Given the description of an element on the screen output the (x, y) to click on. 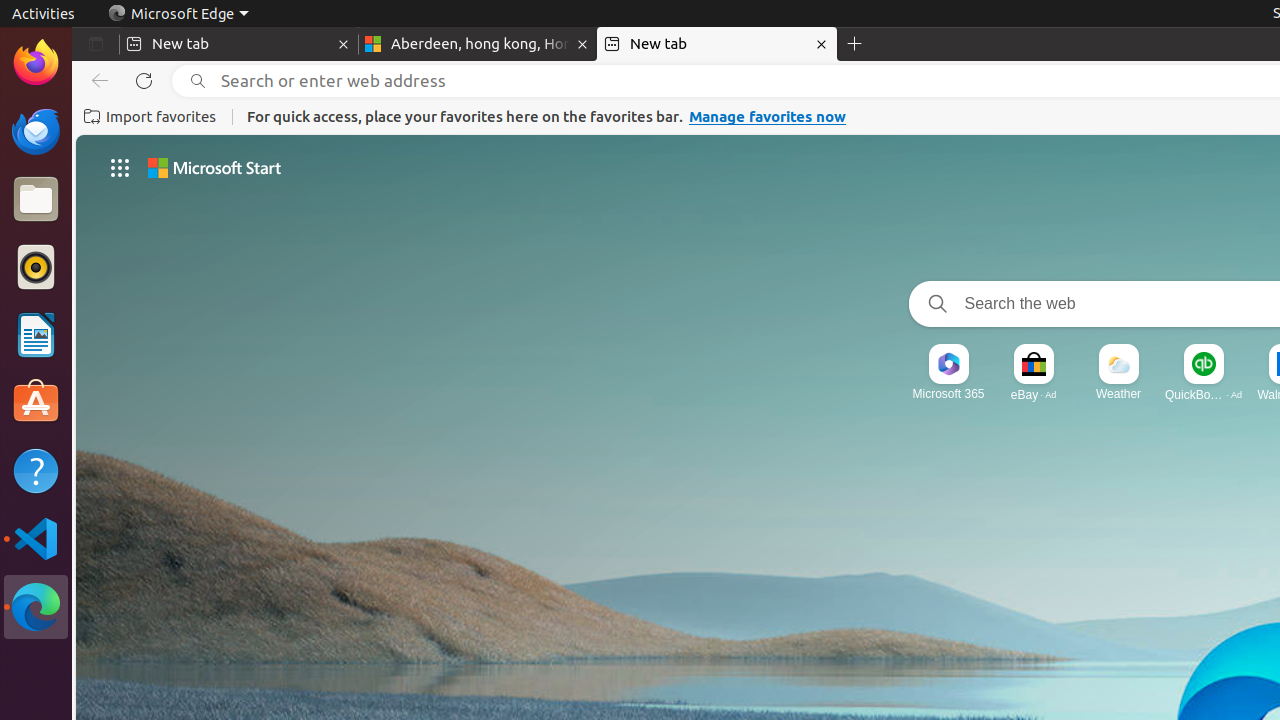
Microsoft 365 Element type: link (948, 393)
New tab Element type: page-tab (717, 44)
Visual Studio Code Element type: push-button (36, 538)
LibreOffice Writer Element type: push-button (36, 334)
Close tab Element type: push-button (343, 44)
